Given the description of an element on the screen output the (x, y) to click on. 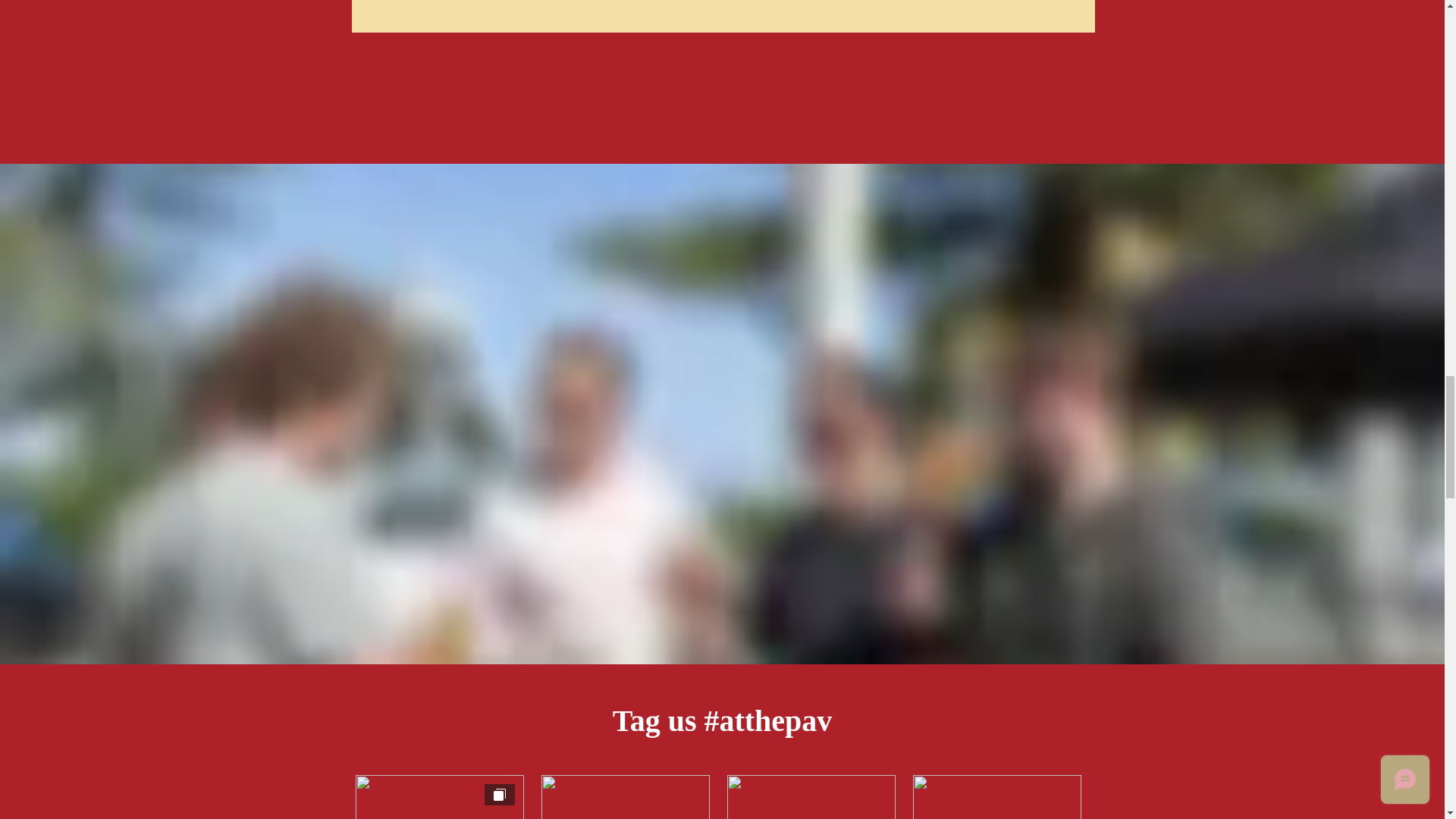
Instagram Feed (717, 796)
